Given the description of an element on the screen output the (x, y) to click on. 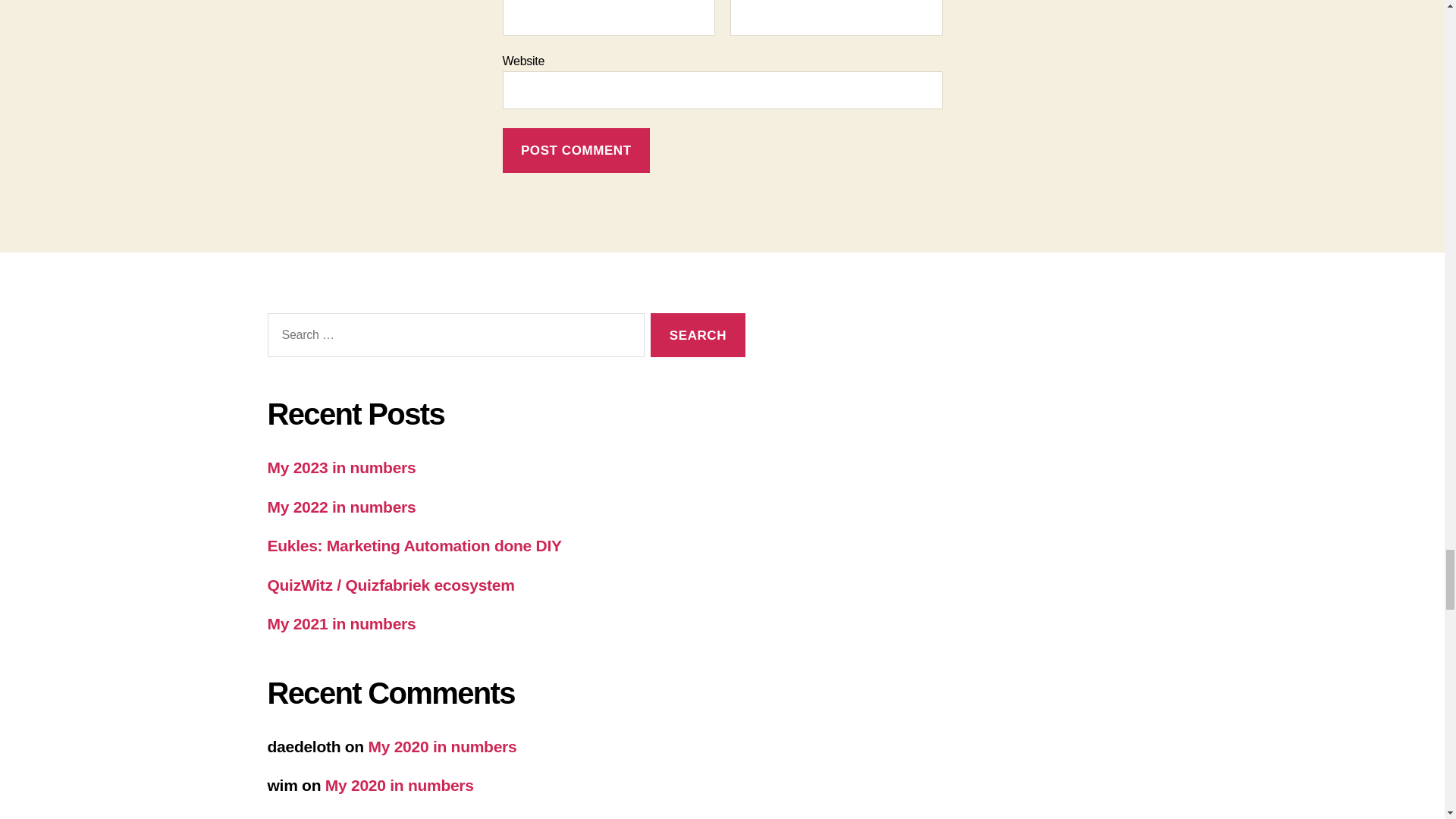
Eukles: Marketing Automation done DIY (413, 545)
My 2019 in numbers (399, 817)
My 2020 in numbers (442, 746)
Search (697, 334)
Post Comment (575, 149)
Search (697, 334)
Post Comment (575, 149)
Search (697, 334)
My 2023 in numbers (340, 466)
My 2021 in numbers (340, 623)
My 2020 in numbers (399, 784)
My 2022 in numbers (340, 506)
